Given the description of an element on the screen output the (x, y) to click on. 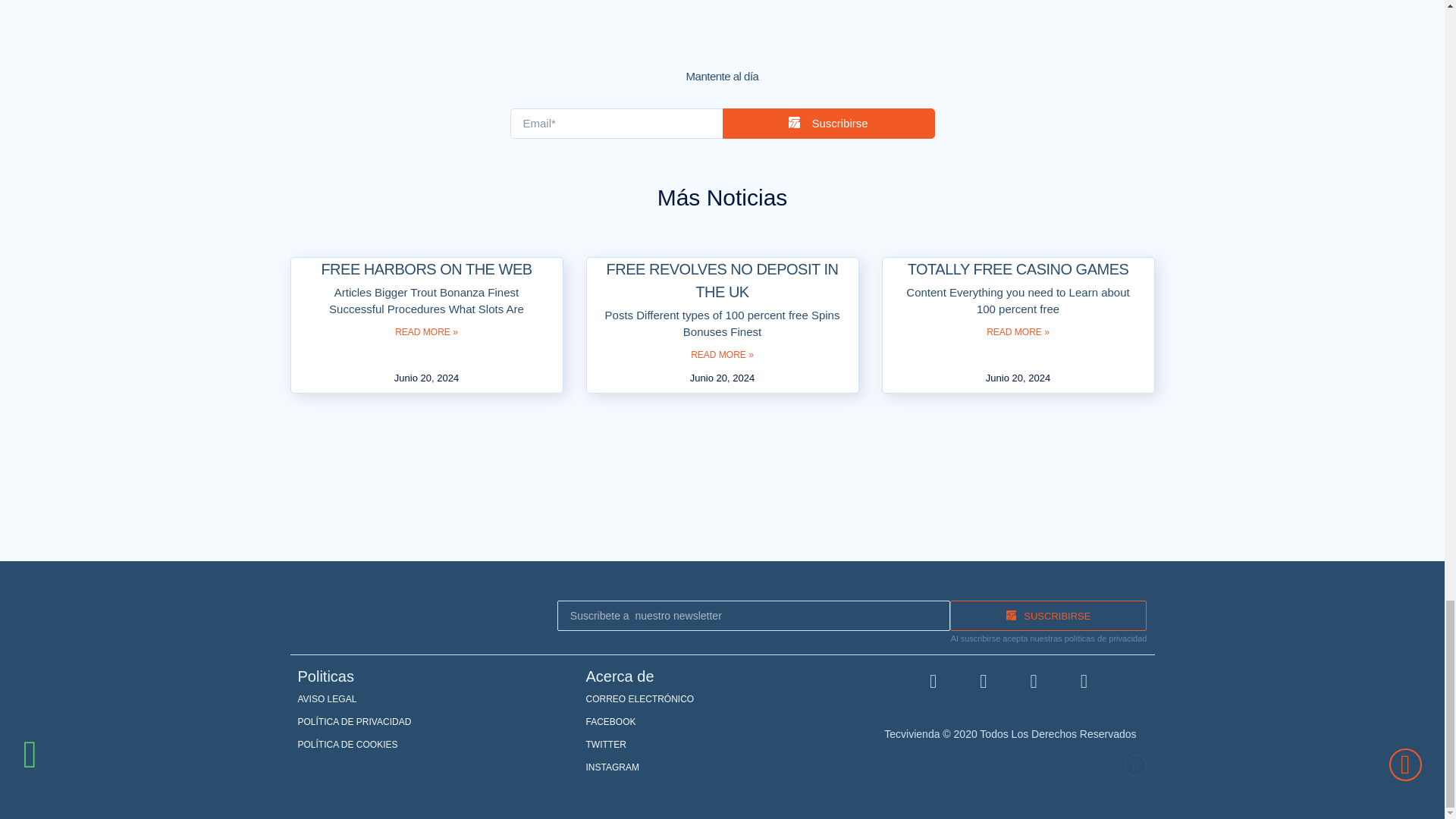
TOTALLY FREE CASINO GAMES (1018, 269)
AVISO LEGAL (433, 698)
FREE HARBORS ON THE WEB (425, 269)
FREE REVOLVES NO DEPOSIT IN THE UK (722, 280)
